Given the description of an element on the screen output the (x, y) to click on. 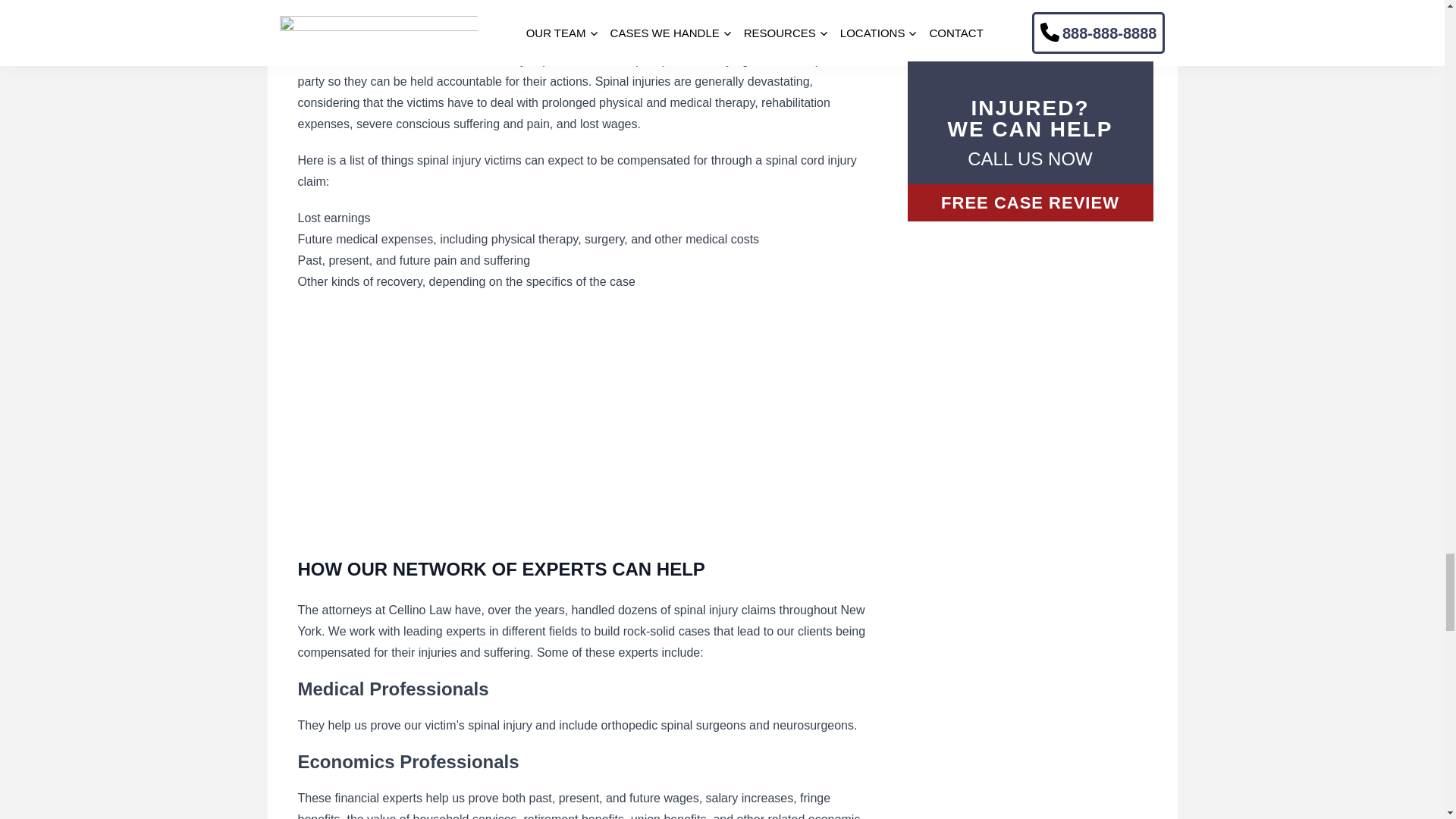
Long Island Spinal Cord Injury Lawyer (487, 413)
